Given the description of an element on the screen output the (x, y) to click on. 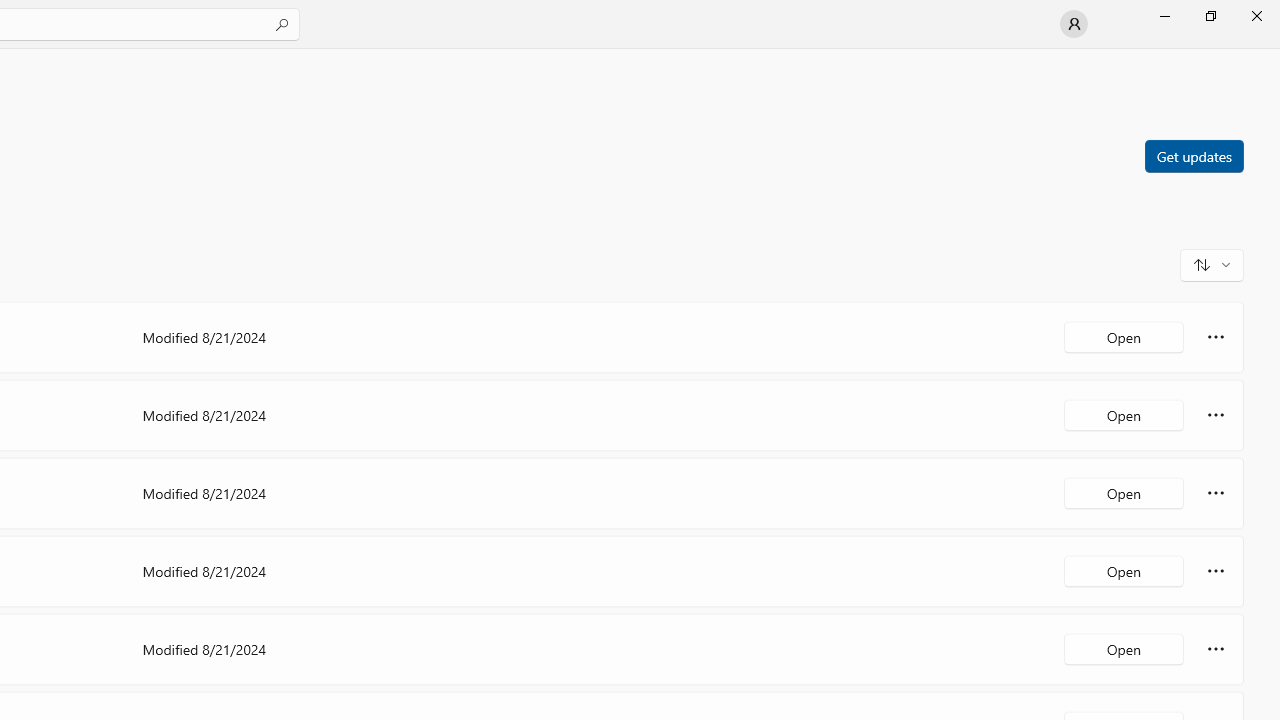
Get updates (1193, 155)
Open (1123, 648)
Sort and filter (1212, 263)
More options (1215, 648)
